Given the description of an element on the screen output the (x, y) to click on. 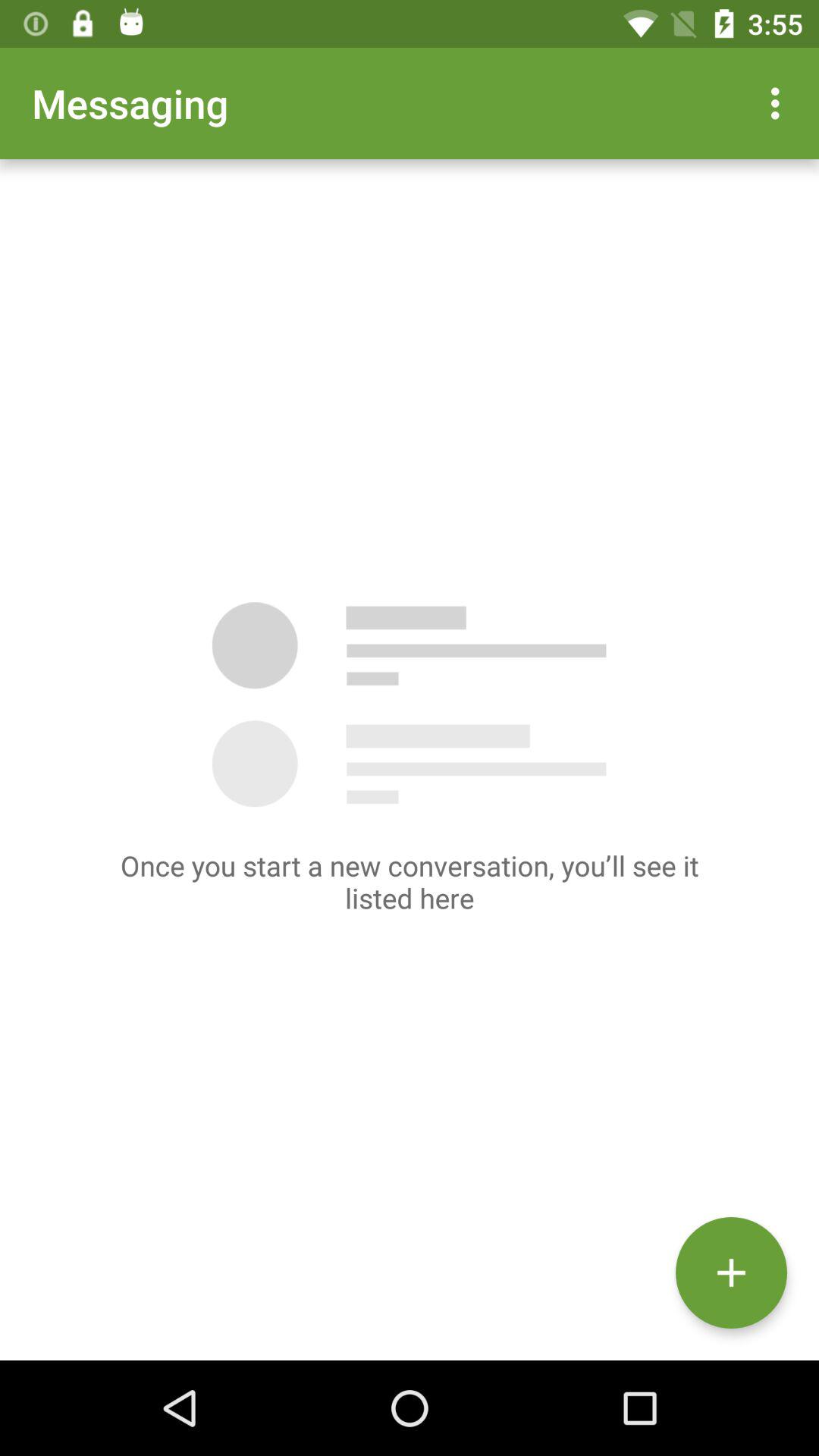
open item at the top right corner (779, 103)
